Given the description of an element on the screen output the (x, y) to click on. 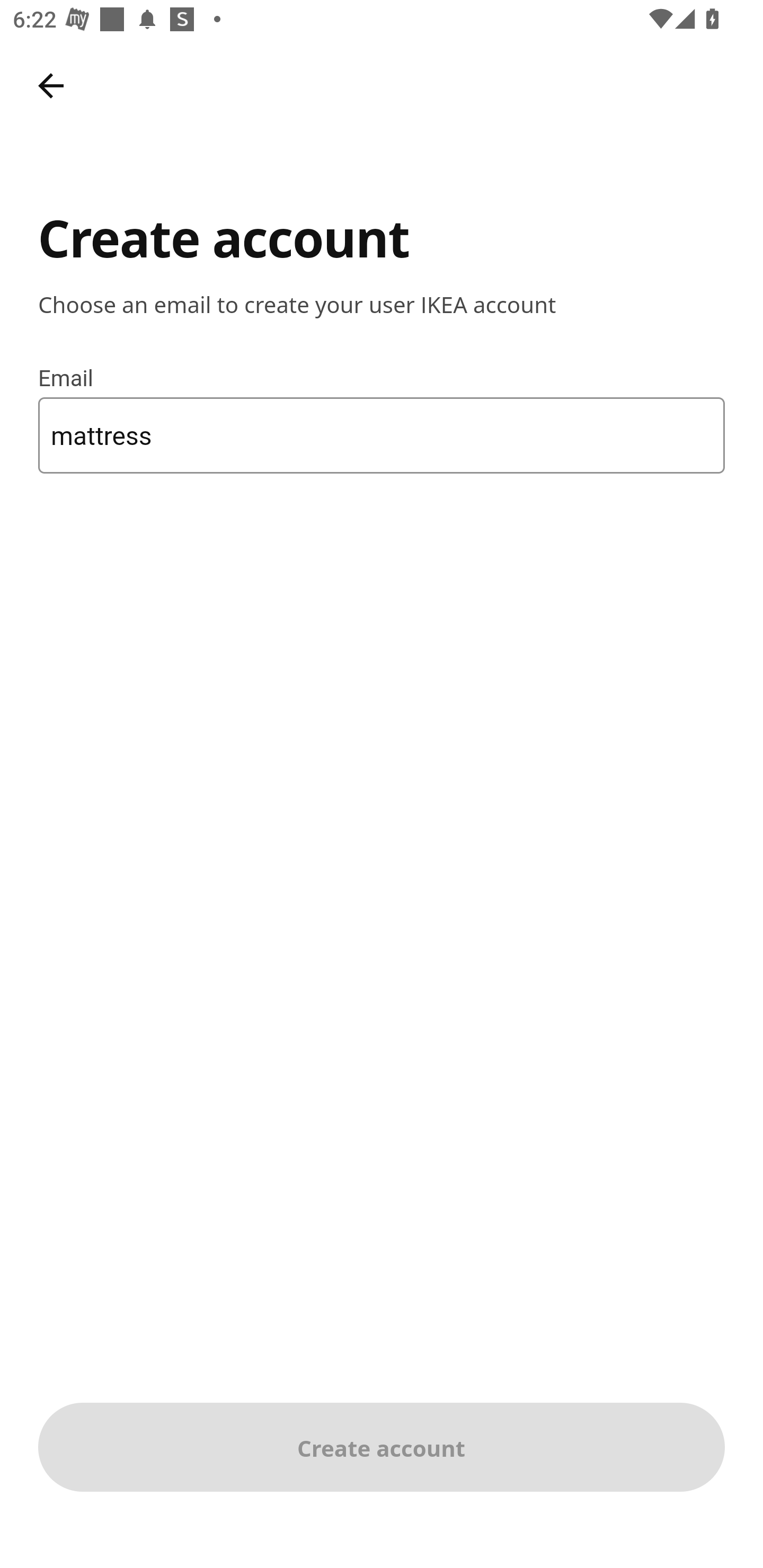
mattress (381, 434)
Create account (381, 1447)
